Given the description of an element on the screen output the (x, y) to click on. 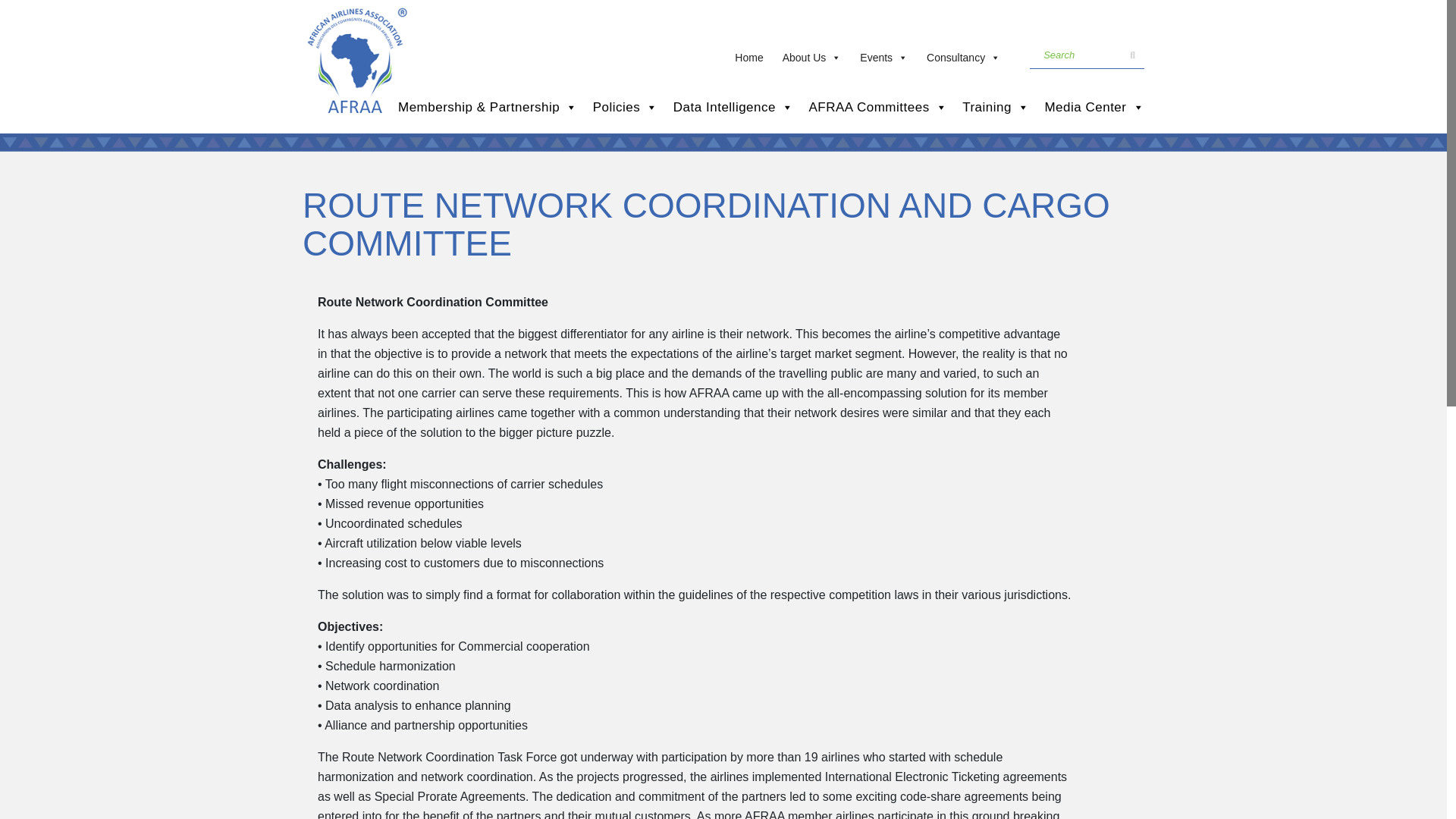
Consultancy (964, 53)
Home (750, 53)
About Us (813, 53)
Events (884, 53)
